Given the description of an element on the screen output the (x, y) to click on. 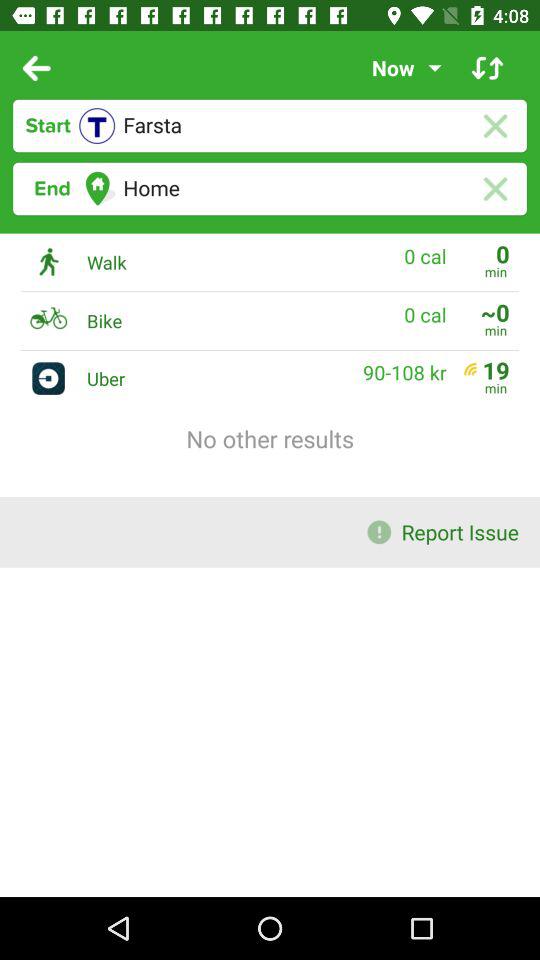
share the article (487, 68)
